Given the description of an element on the screen output the (x, y) to click on. 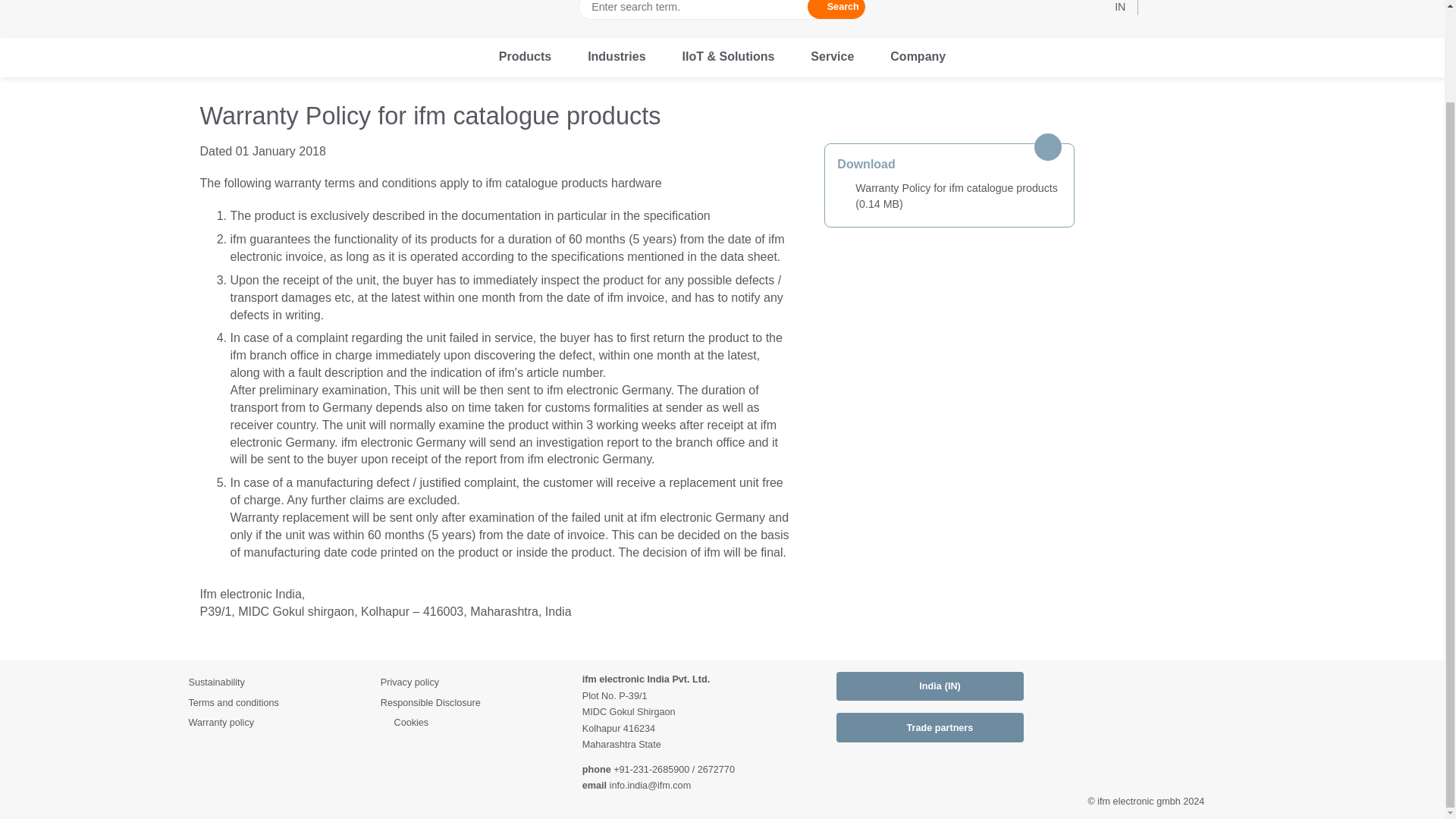
Products (524, 56)
YouTube (1201, 685)
my ifm (1158, 7)
Responsible Disclosure (475, 702)
Shopping basket (1247, 7)
Terms and conditions (277, 702)
Search (836, 9)
Company (917, 56)
Sustainability (277, 682)
LinkedIn (1146, 685)
